Given the description of an element on the screen output the (x, y) to click on. 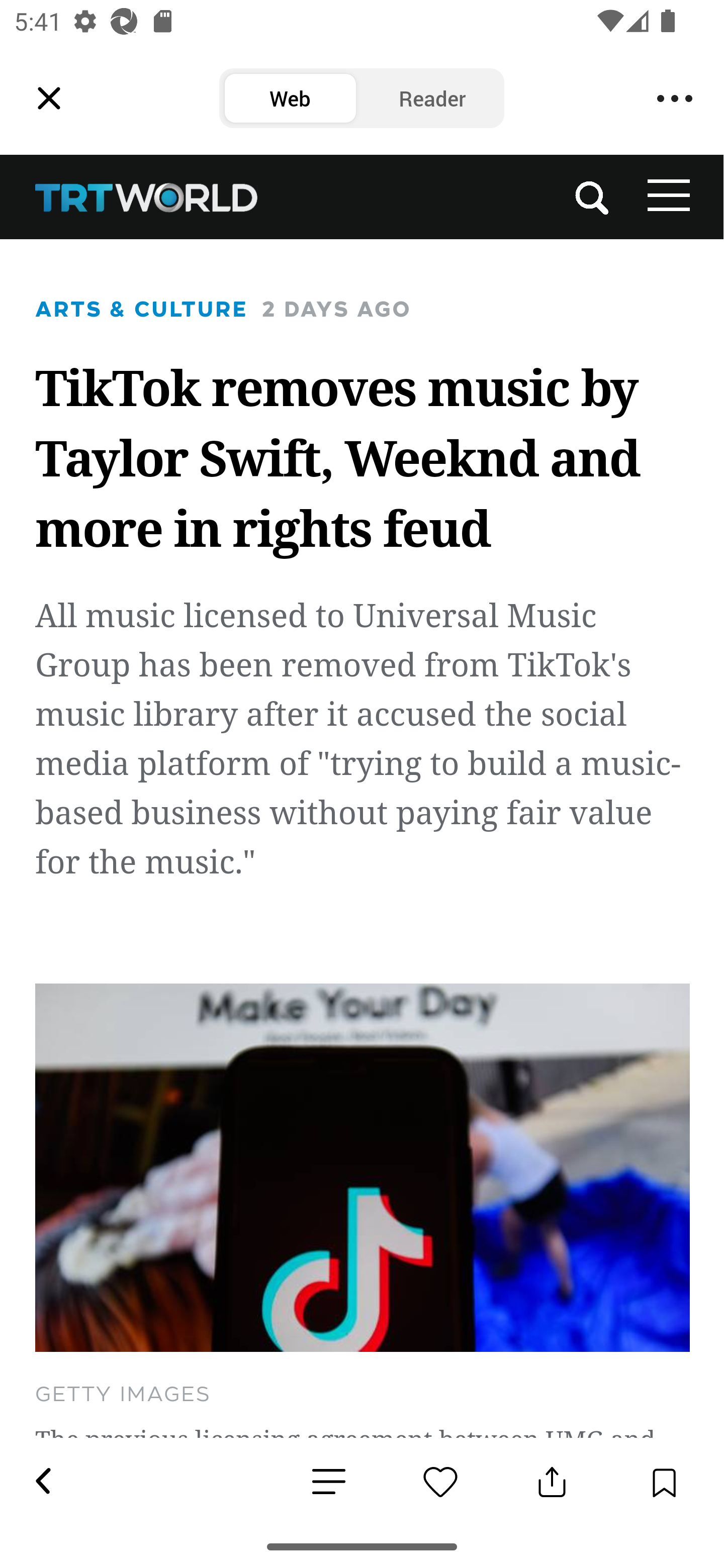
Reader (432, 98)
Menu (674, 98)
Leading Icon (49, 98)
TRT WORLD (147, 196)
ARTS & CULTURE (142, 308)
Back Button (42, 1481)
News Detail Emotion (440, 1481)
Share Button (551, 1481)
Save Button (663, 1481)
News Detail Emotion (329, 1482)
